Given the description of an element on the screen output the (x, y) to click on. 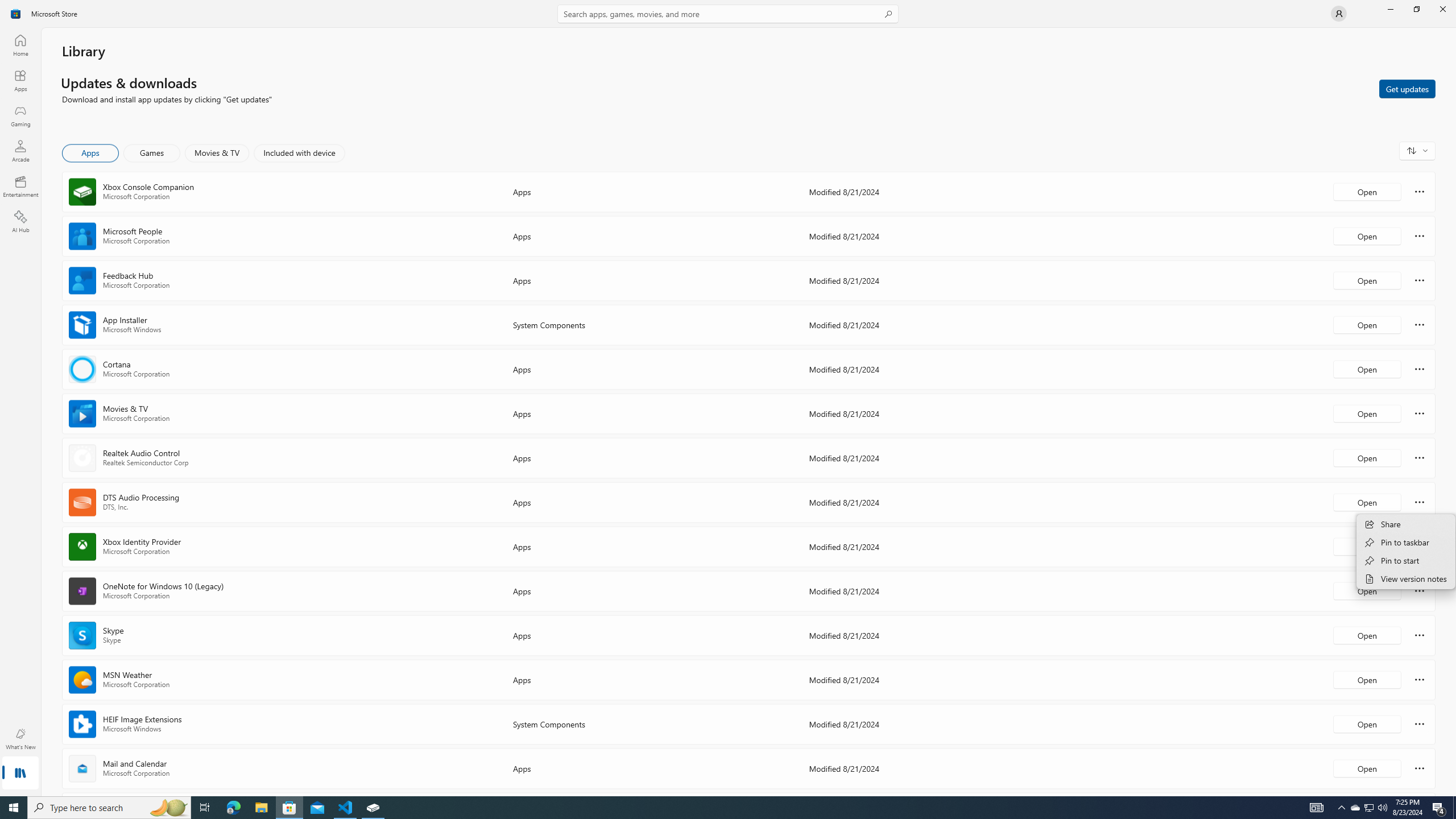
Search (727, 13)
Included with device (299, 153)
Sort and filter (1417, 149)
Open (1366, 768)
AutomationID: NavigationControl (728, 398)
